Given the description of an element on the screen output the (x, y) to click on. 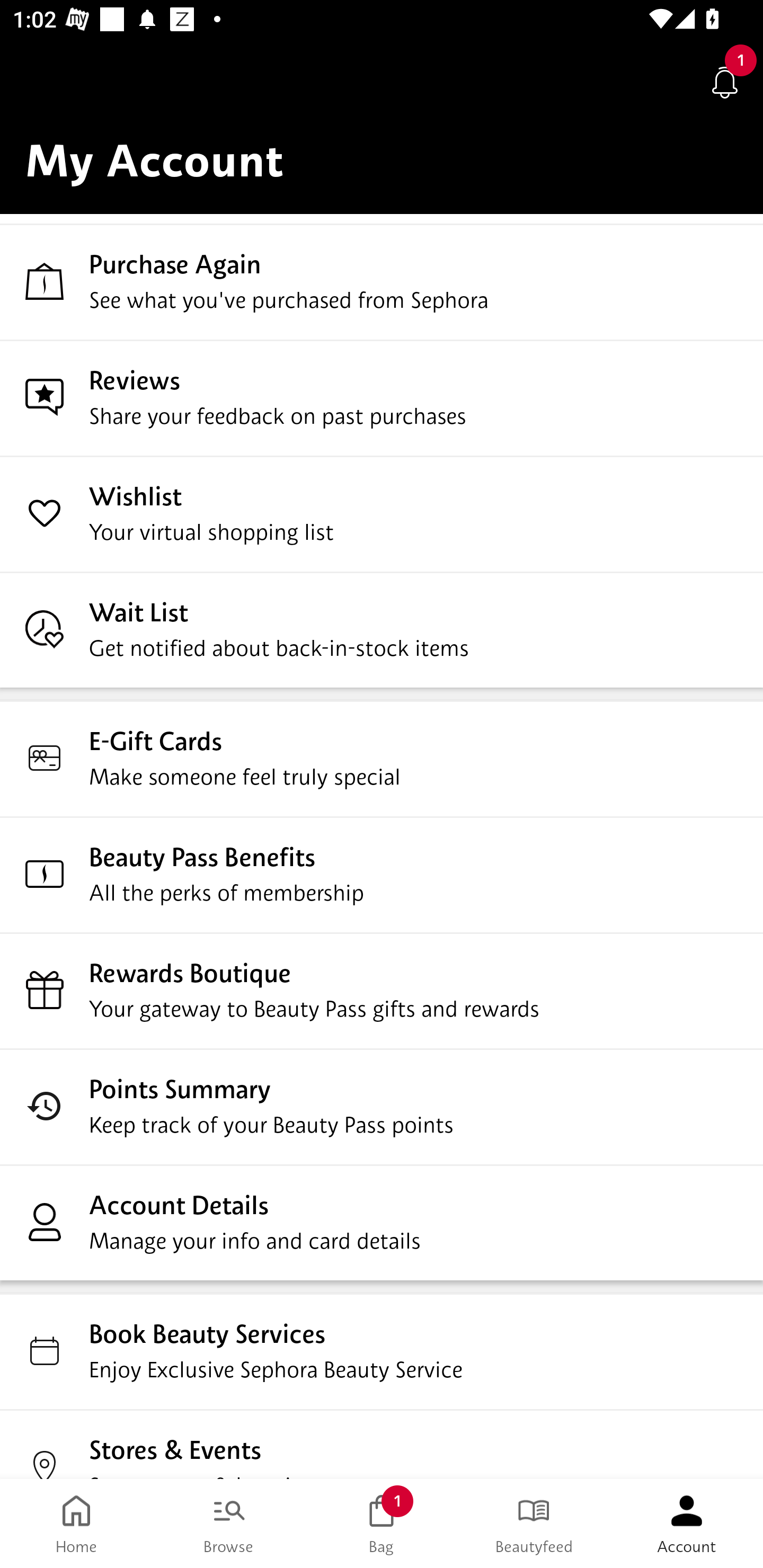
Notifications (724, 81)
Reviews Share your feedback on past purchases (381, 398)
Wishlist Your virtual shopping list (381, 514)
Wait List Get notified about back-in-stock items (381, 630)
E-Gift Cards Make someone feel truly special (381, 758)
Beauty Pass Benefits All the perks of membership (381, 874)
Account Details Manage your info and card details (381, 1223)
Home (76, 1523)
Browse (228, 1523)
Bag 1 Bag (381, 1523)
Beautyfeed (533, 1523)
